Given the description of an element on the screen output the (x, y) to click on. 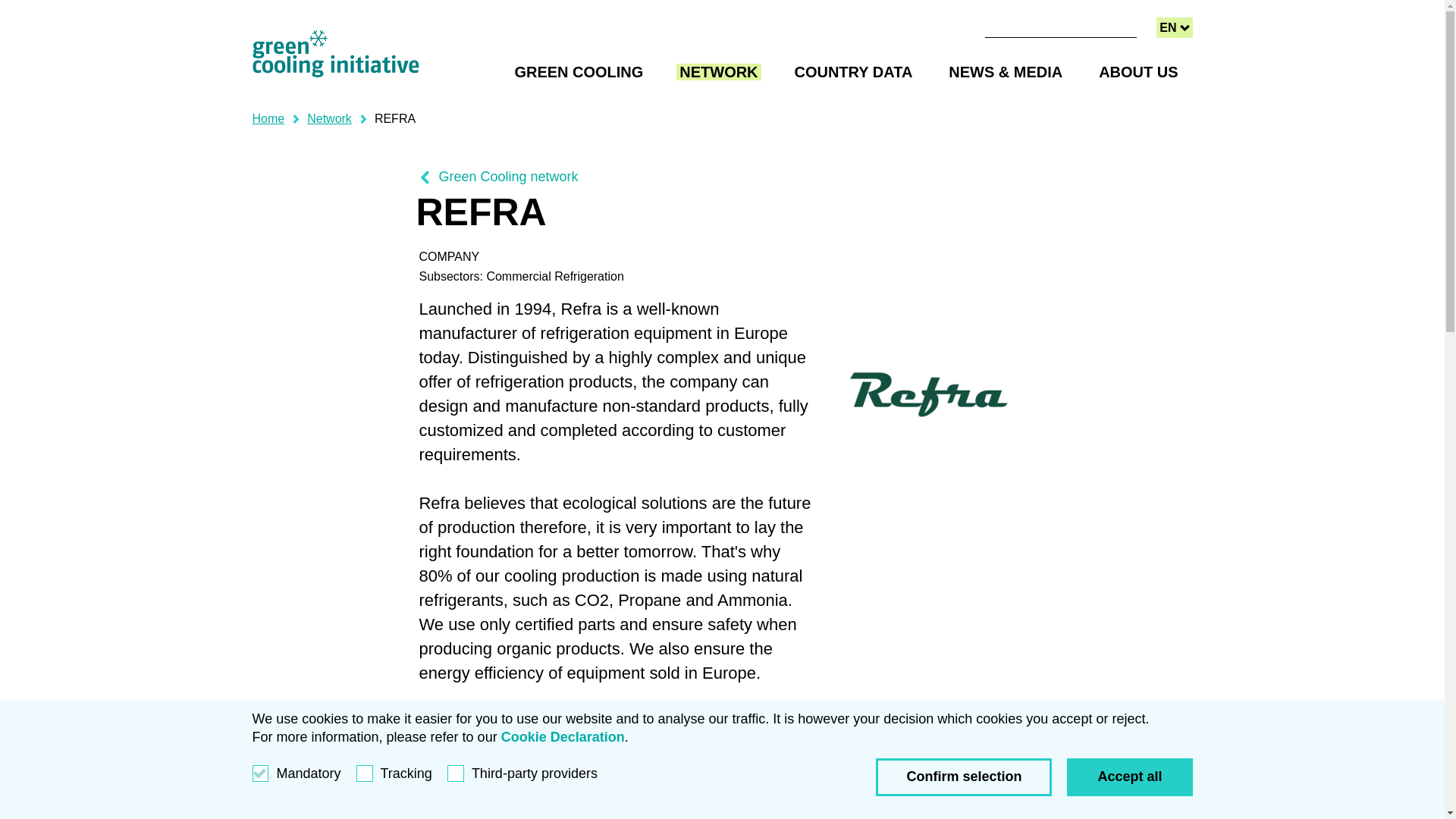
www.refra.eu (461, 750)
REFRA (1174, 27)
on (394, 118)
on (1138, 71)
Green Cooling network (853, 71)
Home (498, 177)
Content (267, 118)
Network (737, 13)
English (329, 118)
GREEN COOLING (1167, 27)
NETWORK (578, 71)
